Given the description of an element on the screen output the (x, y) to click on. 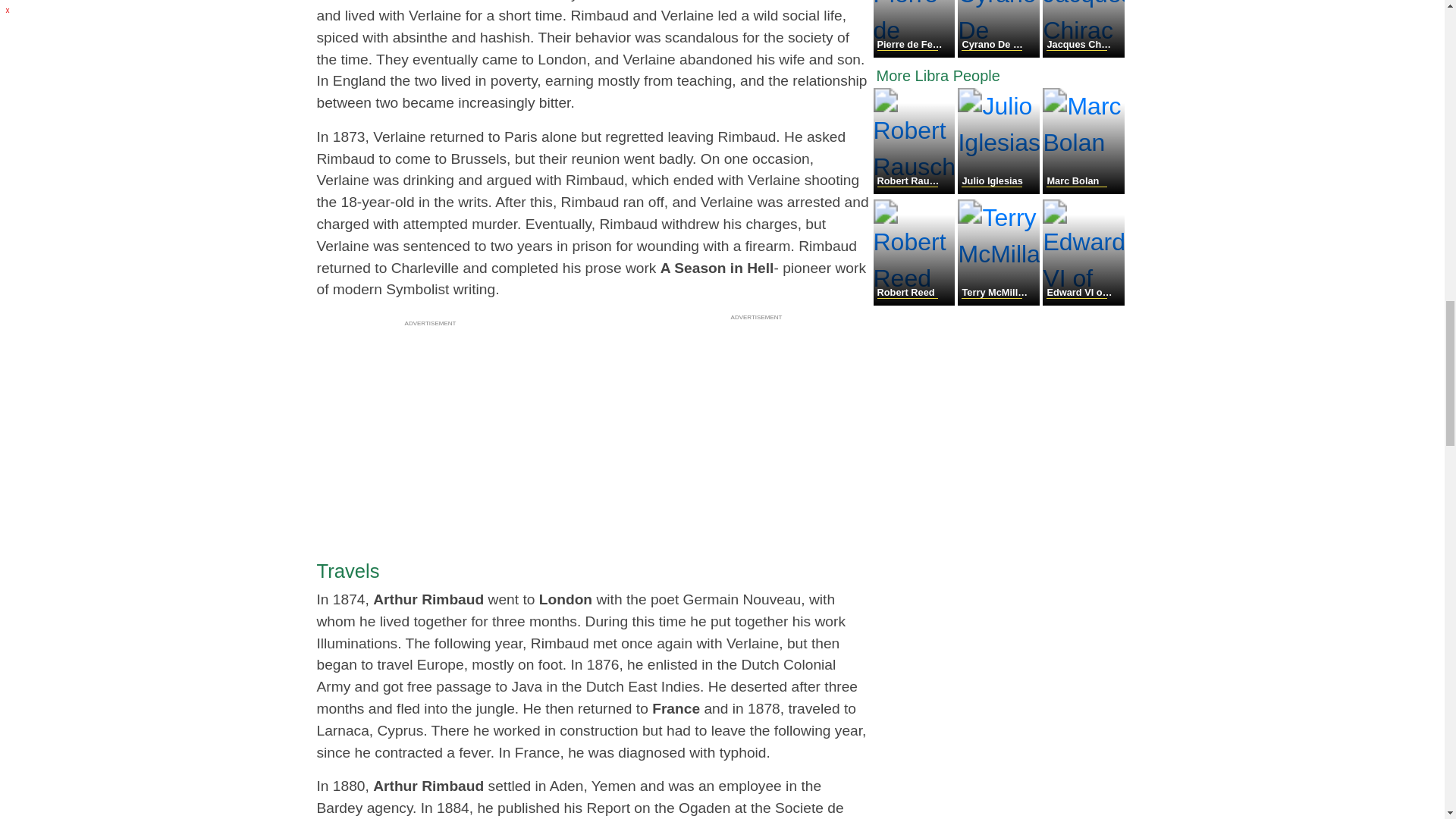
Jacques Chirac (1083, 52)
Marc Bolan (1083, 189)
Robert Reed (915, 300)
Pierre de Fermat (915, 52)
3rd party ad content (430, 426)
Cyrano De Bergerac (1000, 52)
Julio Iglesias (1000, 189)
3rd party ad content (756, 420)
Robert Rauschenberg (915, 189)
